Given the description of an element on the screen output the (x, y) to click on. 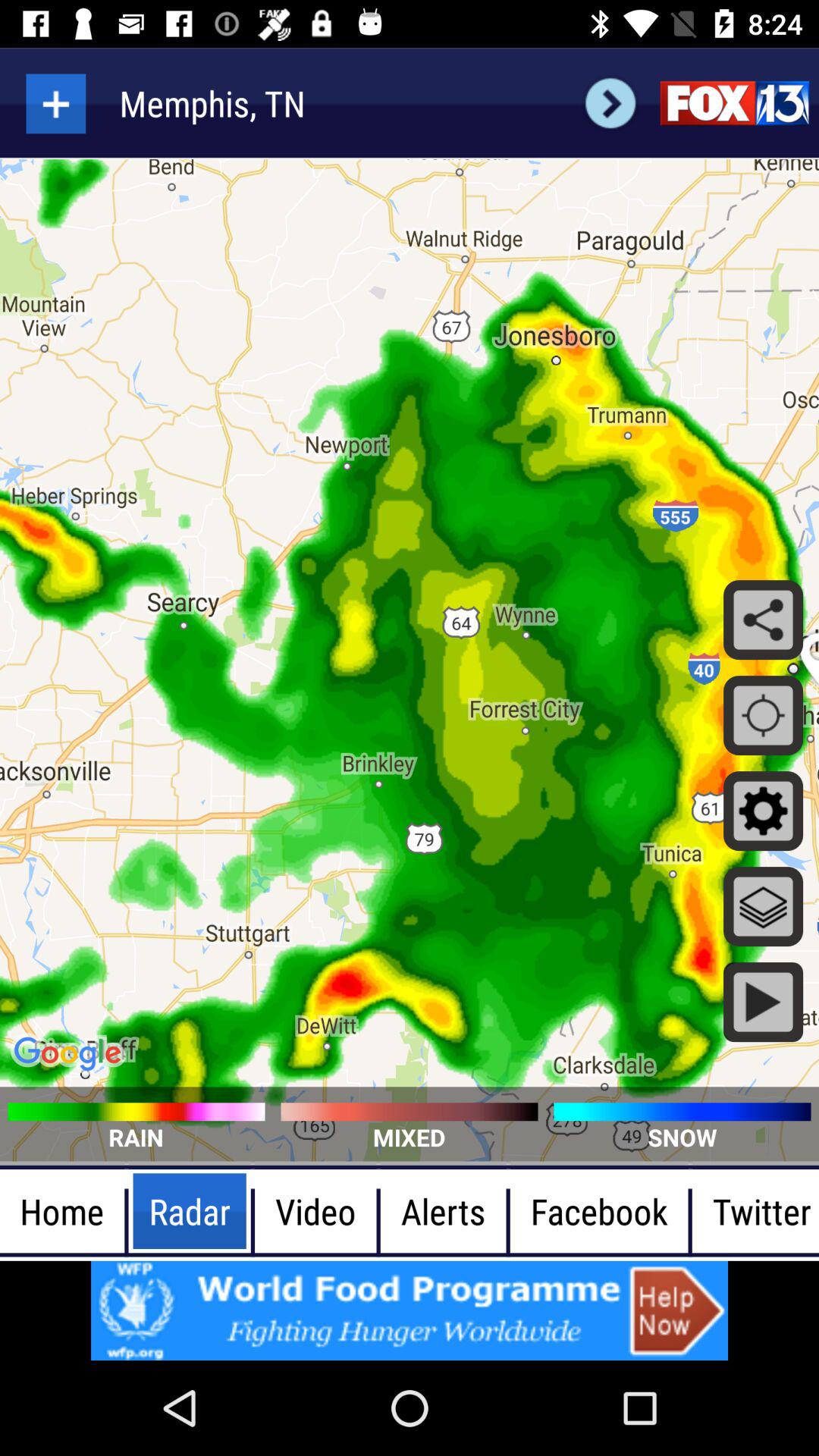
fox 13 channel (734, 103)
